Given the description of an element on the screen output the (x, y) to click on. 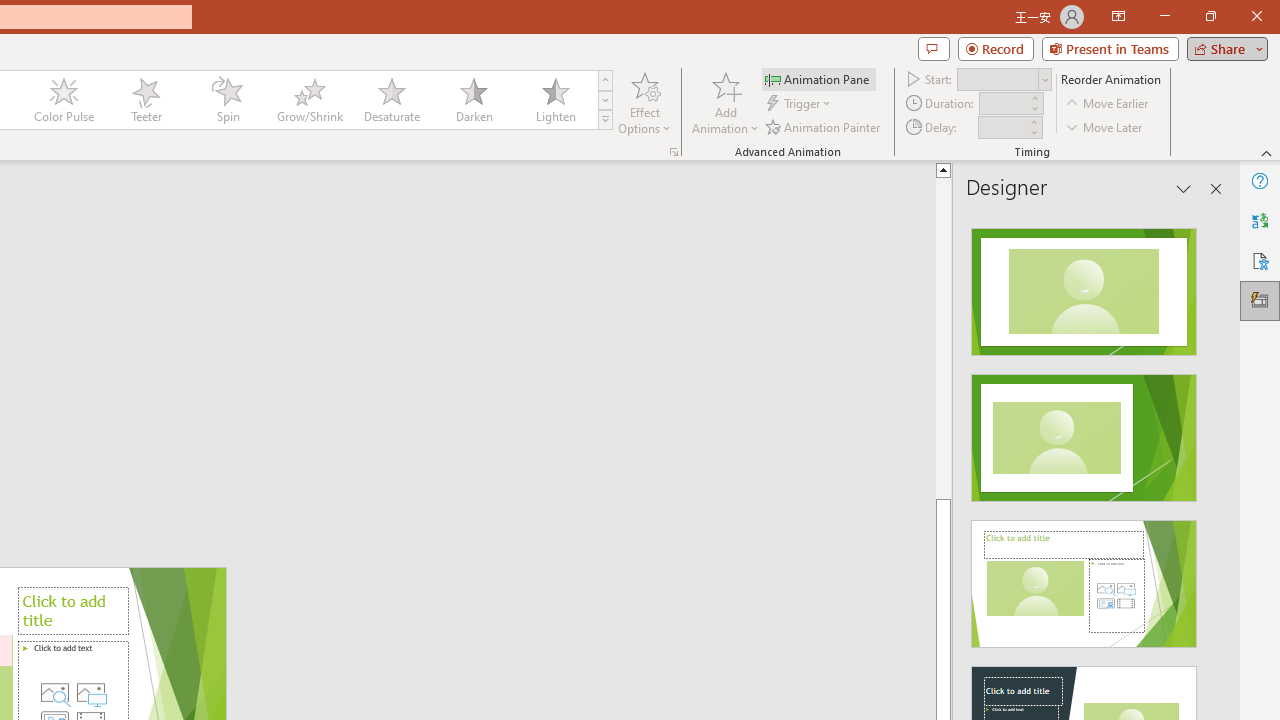
Desaturate (391, 100)
Animation Styles (605, 120)
More (1033, 121)
Spin (227, 100)
Animation Painter (824, 126)
Move Earlier (1107, 103)
Pictures (91, 692)
